Given the description of an element on the screen output the (x, y) to click on. 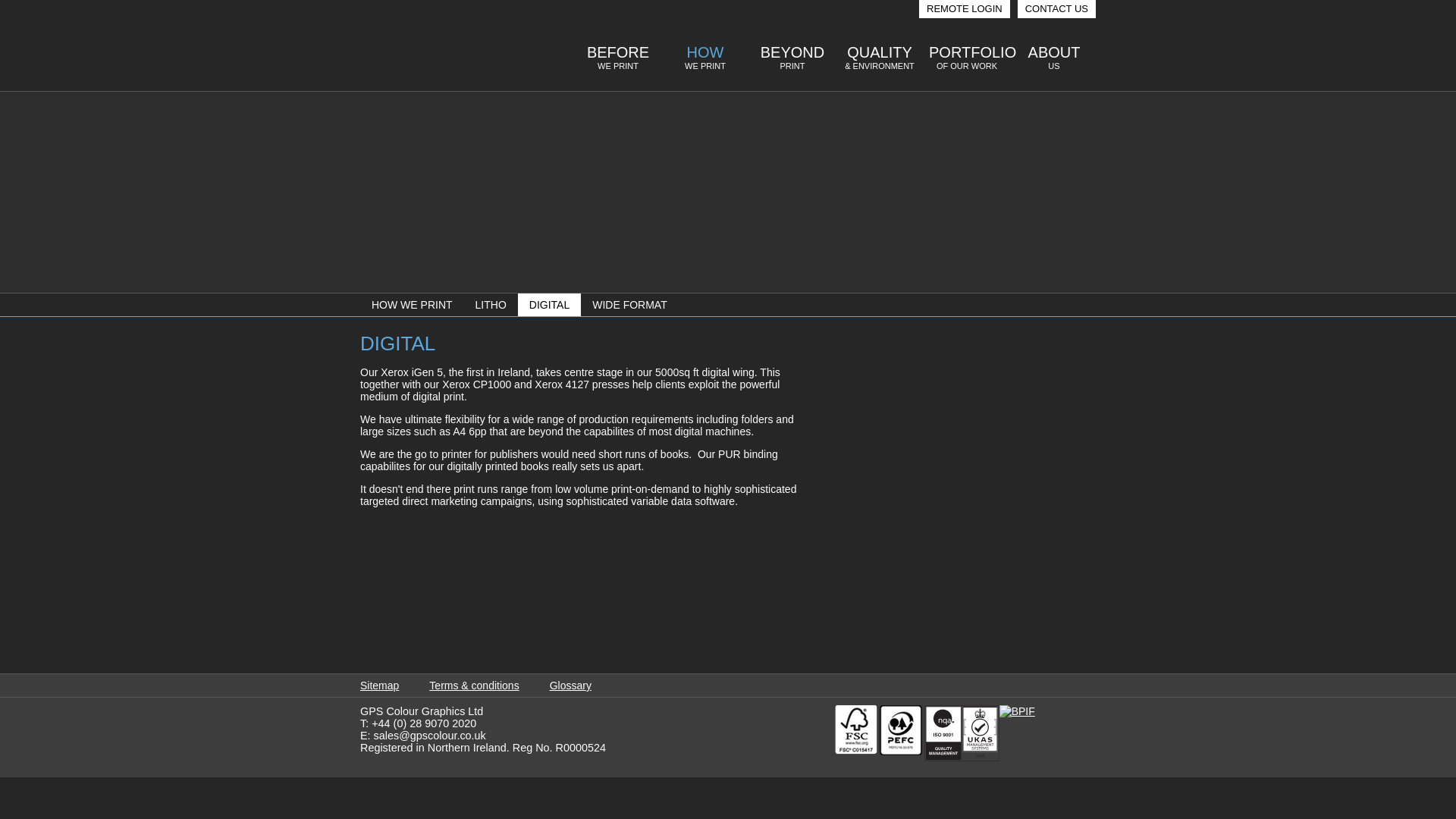
Glossary (570, 685)
DIGITAL (549, 304)
HOW WE PRINT (411, 304)
LITHO (617, 60)
CONTACT US (966, 60)
Sitemap (491, 304)
REMOTE LOGIN (1056, 9)
